Given the description of an element on the screen output the (x, y) to click on. 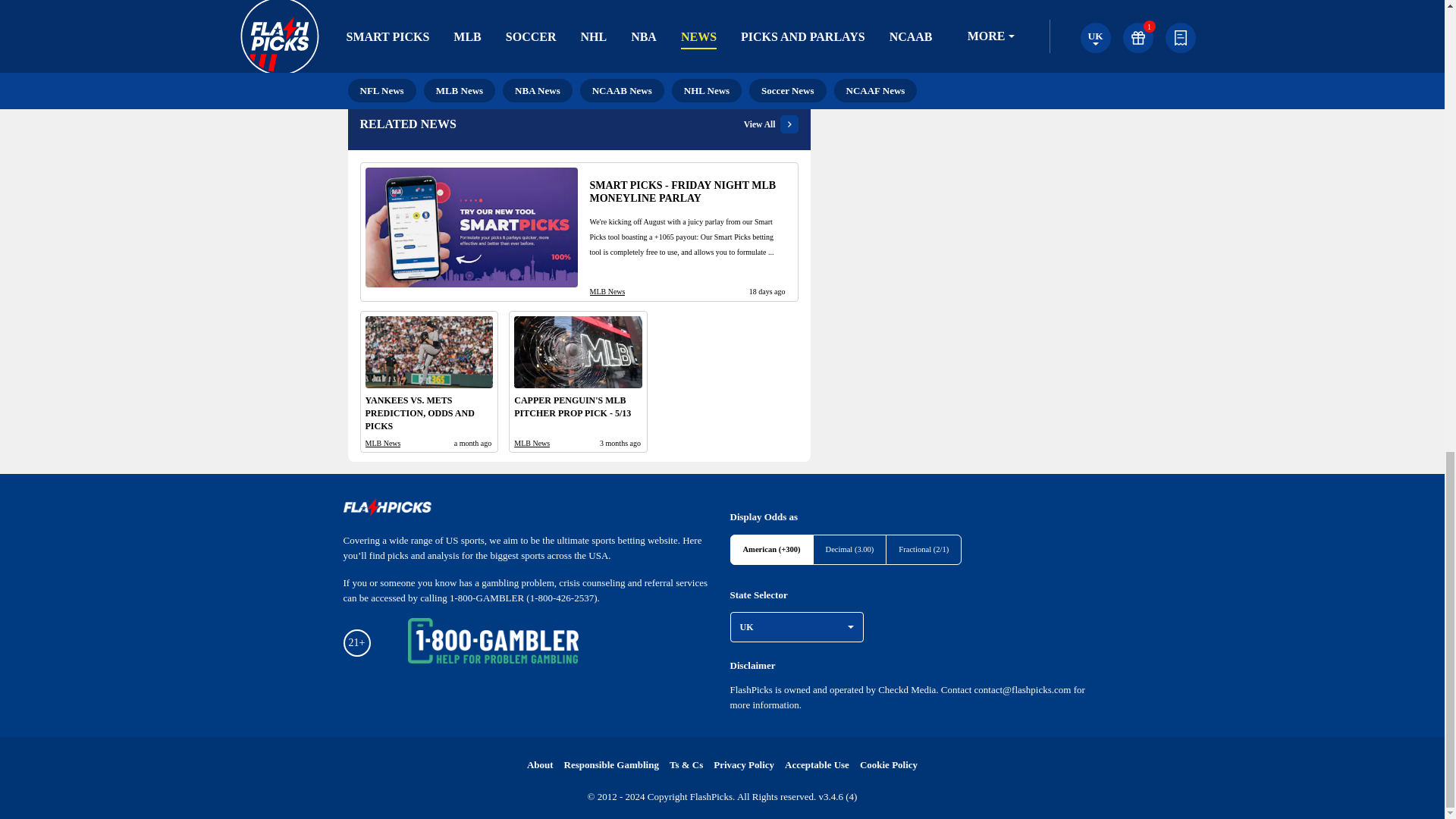
SUBSCRIBE TODAY (716, 15)
Gambling problem helpline (493, 643)
View All (770, 124)
